Given the description of an element on the screen output the (x, y) to click on. 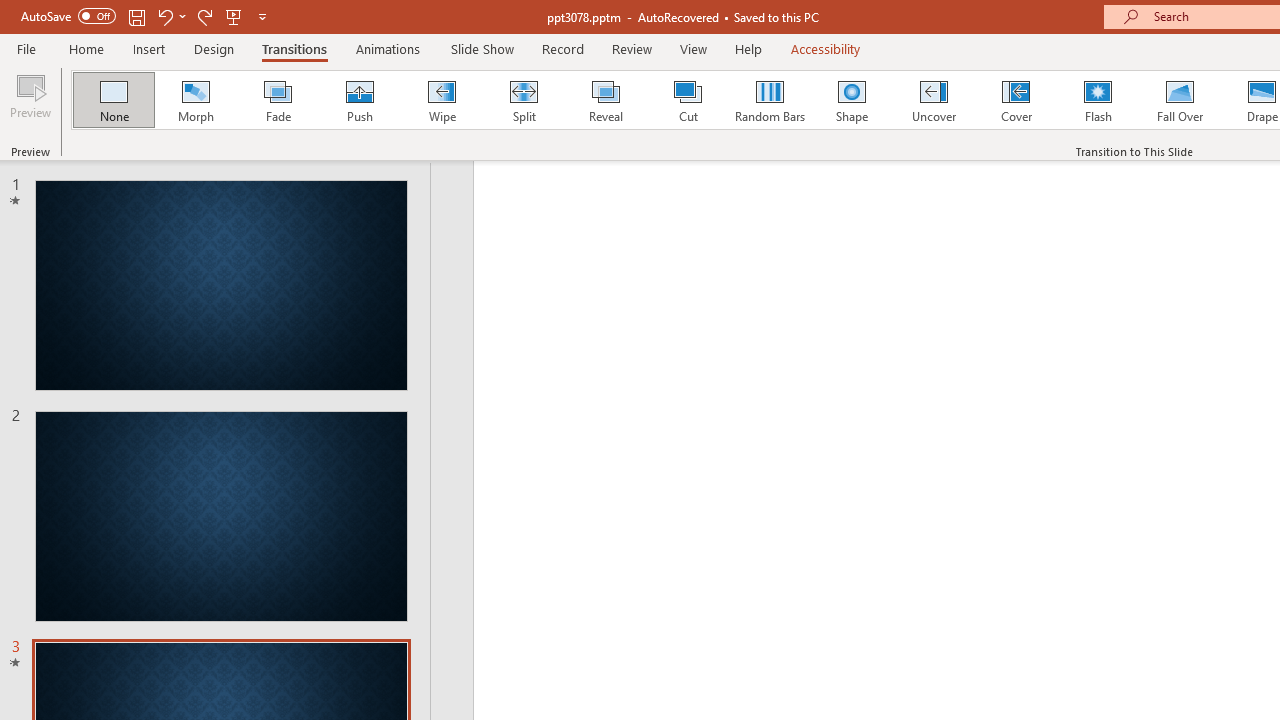
Fall Over (1180, 100)
Random Bars (770, 100)
Uncover (934, 100)
Shape (852, 100)
Reveal (605, 100)
Cover (1016, 100)
